Given the description of an element on the screen output the (x, y) to click on. 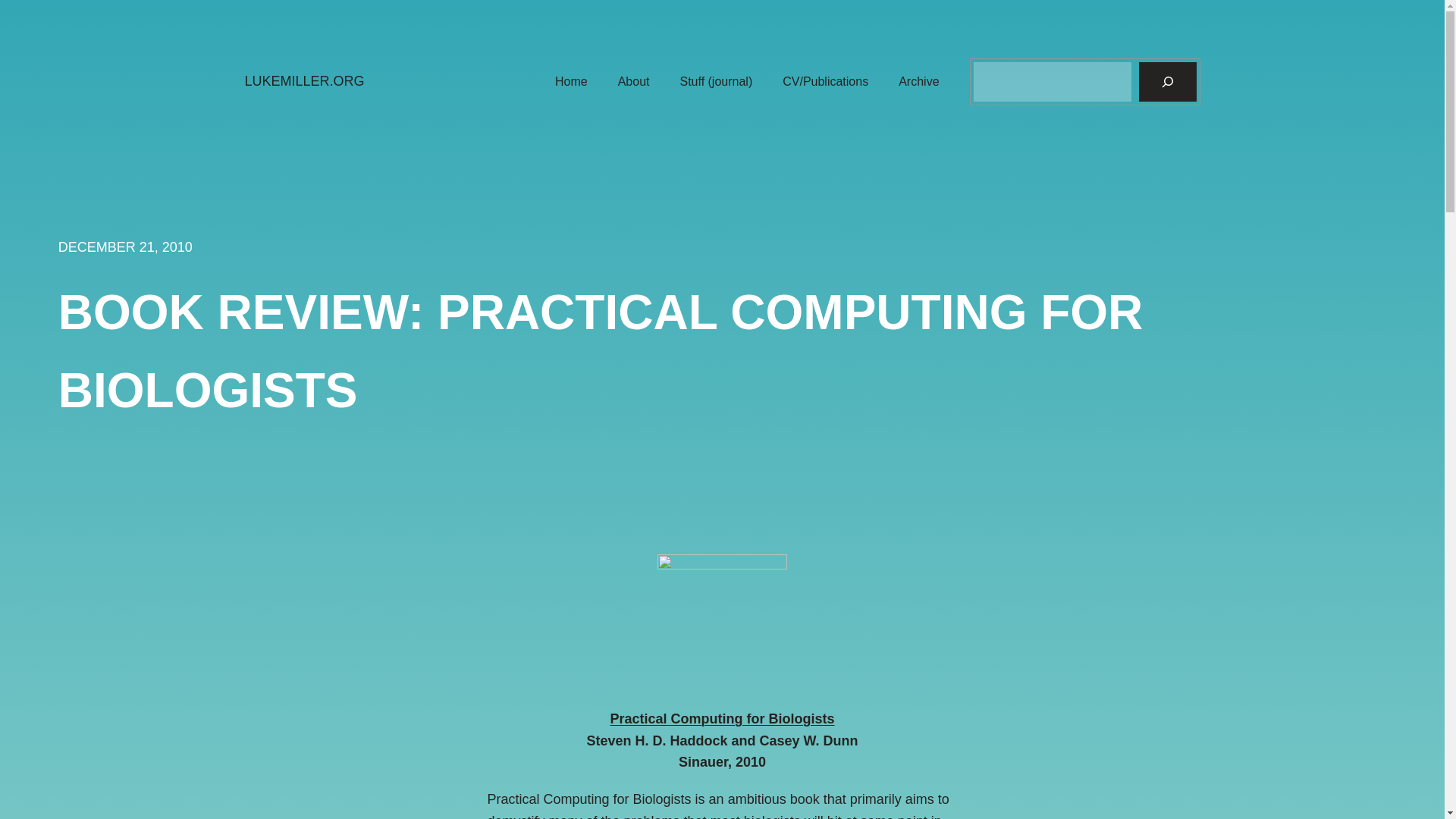
Practical Computing for Biologists (722, 718)
About (633, 81)
Home (571, 81)
Archive (918, 81)
LUKEMILLER.ORG (304, 80)
